Given the description of an element on the screen output the (x, y) to click on. 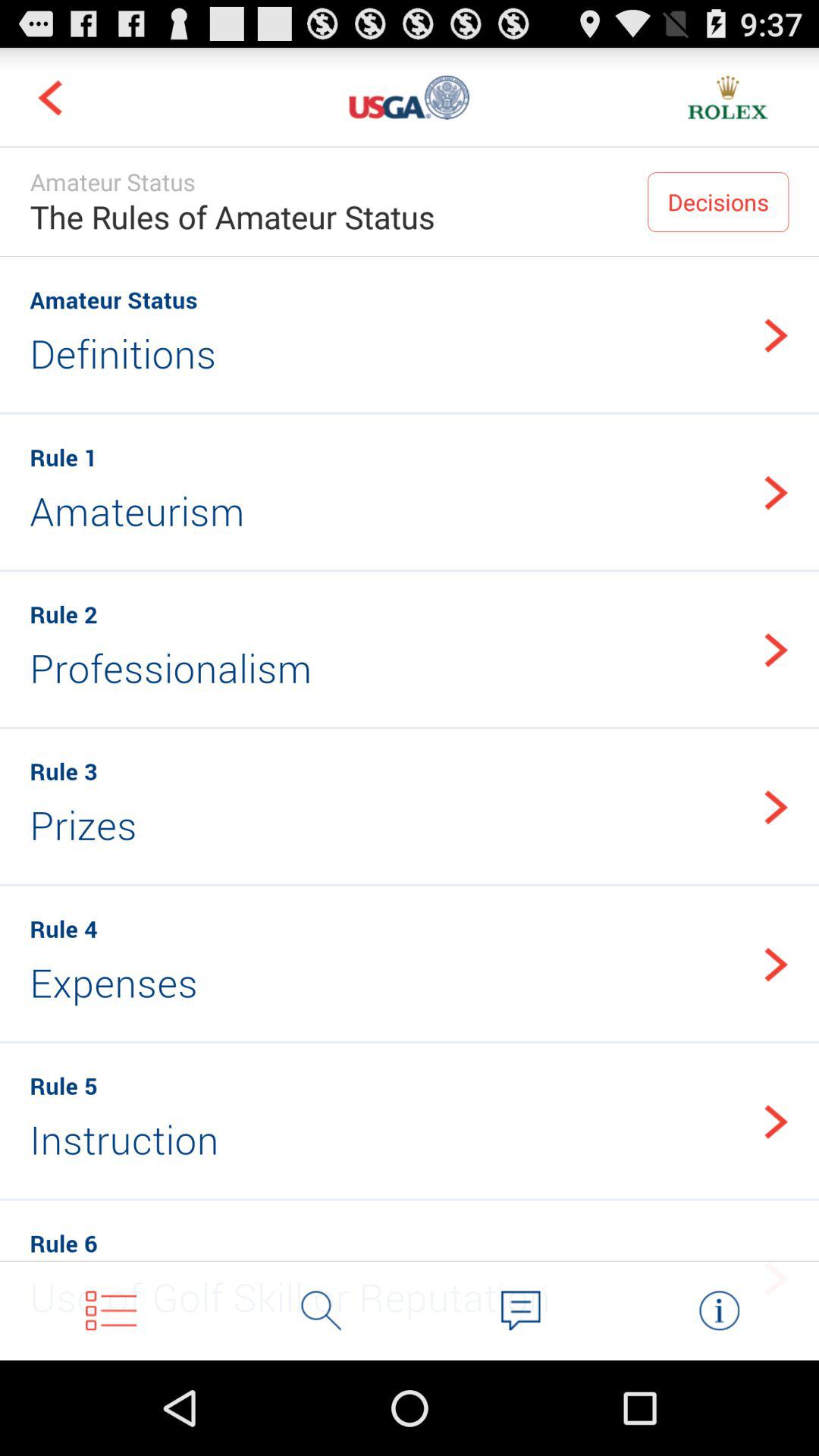
more information (719, 1310)
